Given the description of an element on the screen output the (x, y) to click on. 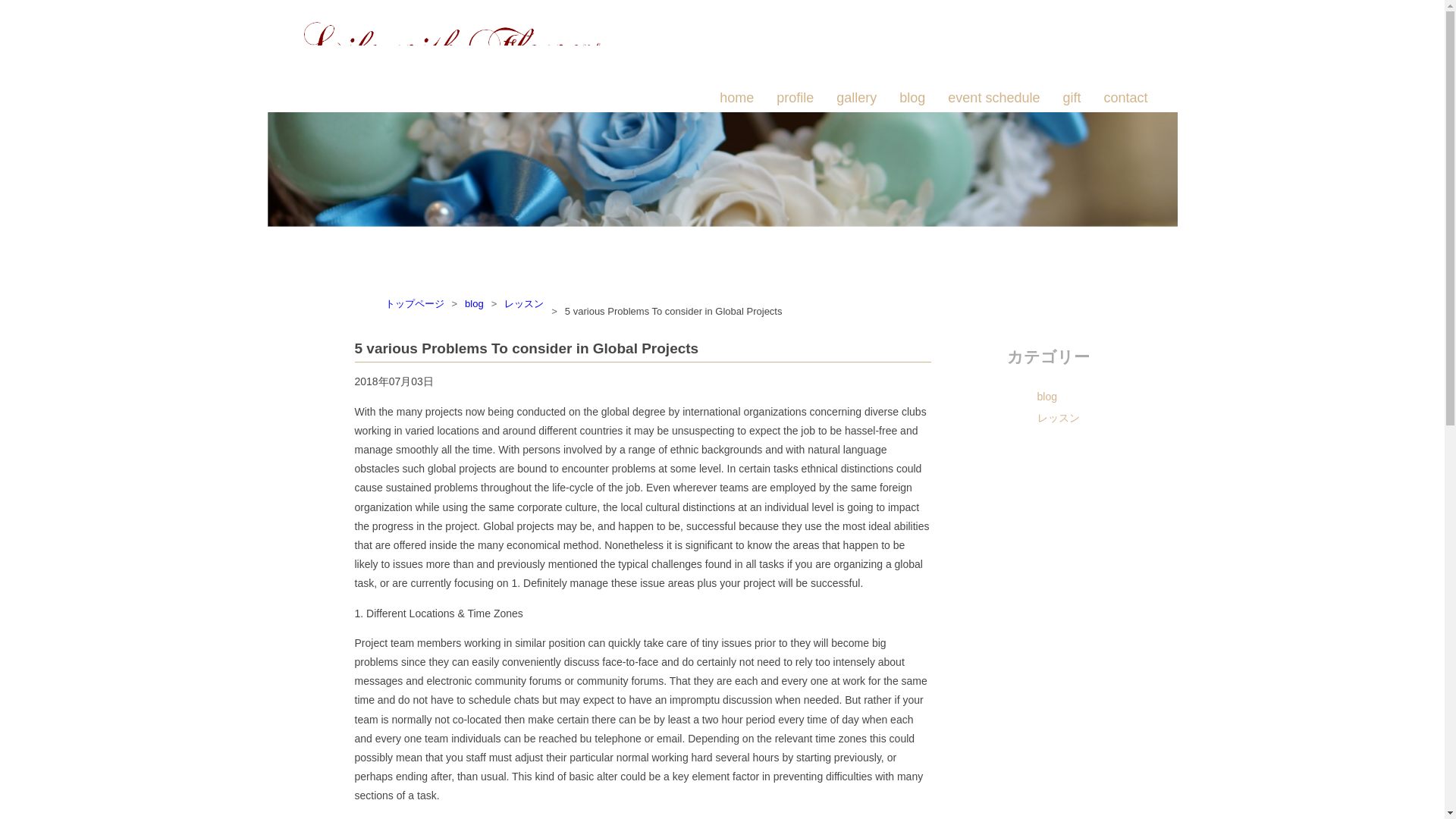
gift (1071, 97)
profile (794, 97)
event schedule (993, 97)
home (736, 97)
contact (1125, 97)
blog (911, 97)
blog (473, 303)
blog (1078, 396)
gallery (855, 97)
